Given the description of an element on the screen output the (x, y) to click on. 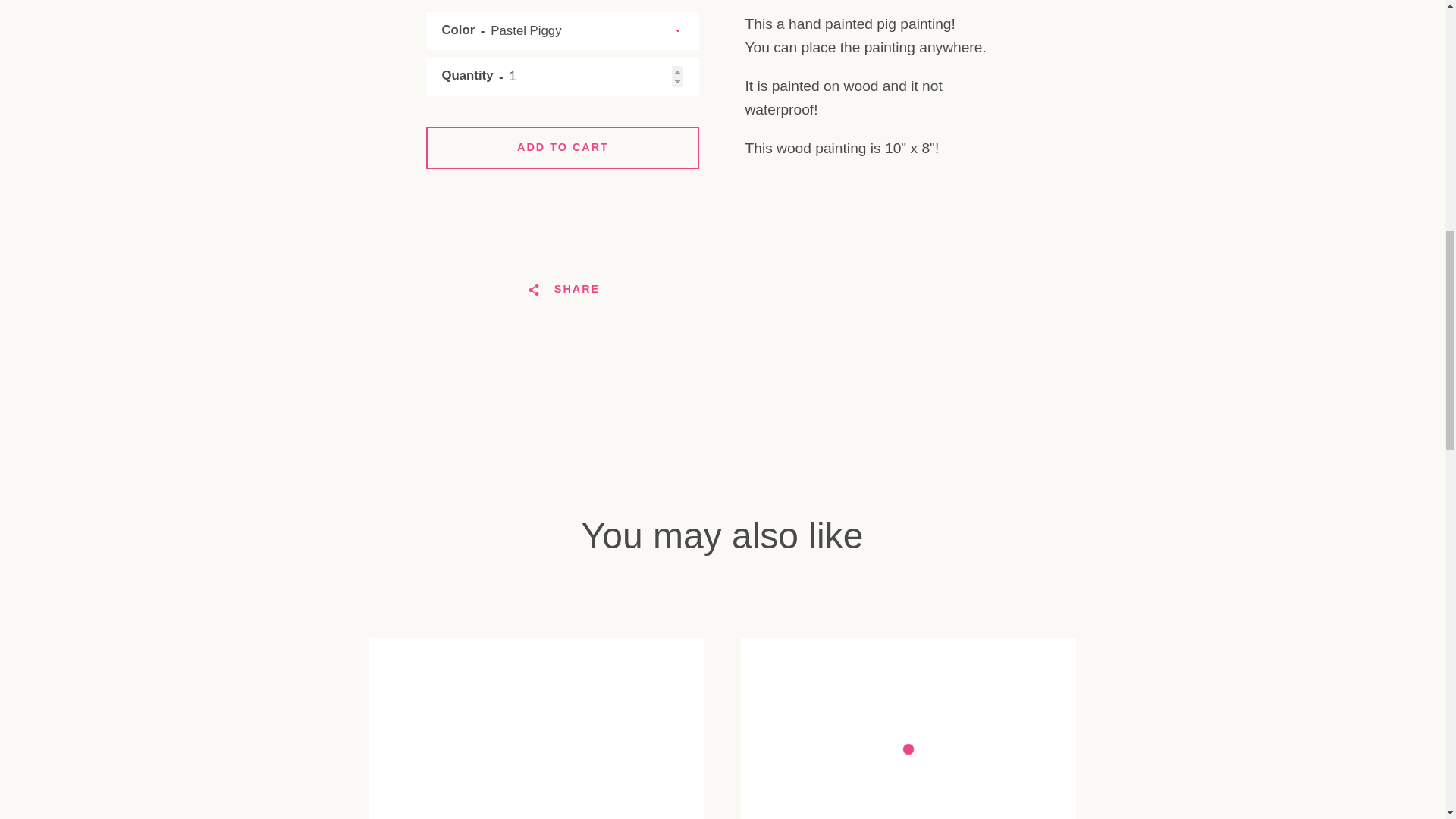
1 (562, 76)
ADD TO CART (562, 147)
SHARE (562, 289)
